Given the description of an element on the screen output the (x, y) to click on. 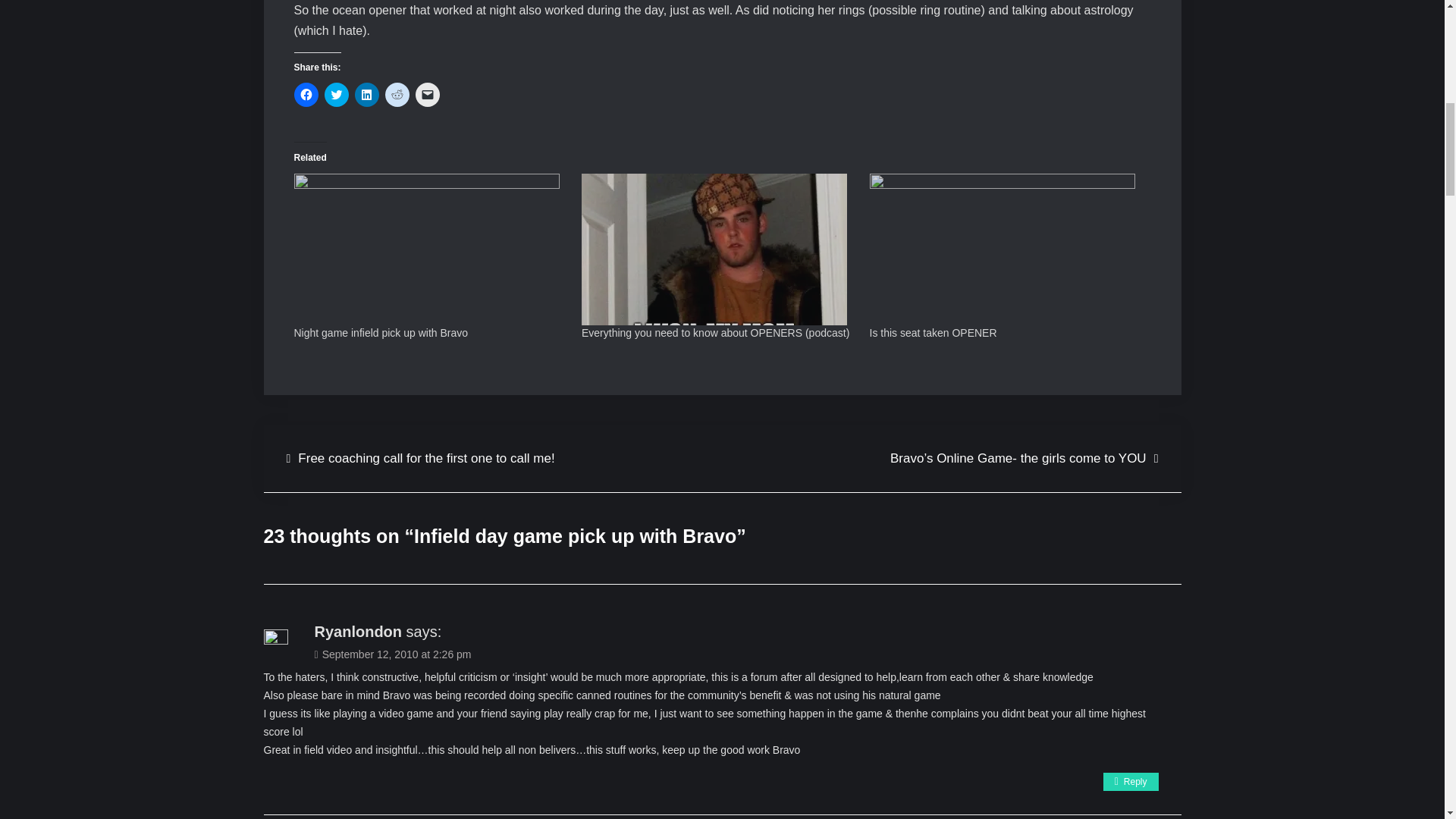
Click to share on Reddit (397, 94)
Click to share on LinkedIn (366, 94)
Night game infield pick up with Bravo (430, 249)
Is this seat taken OPENER (932, 332)
Click to email a link to a friend (426, 94)
Click to share on Facebook (306, 94)
Free coaching call for the first one to call me! (420, 458)
Is this seat taken OPENER (932, 332)
September 12, 2010 at 2:26 pm (392, 654)
Night game infield pick up with Bravo (381, 332)
